Given the description of an element on the screen output the (x, y) to click on. 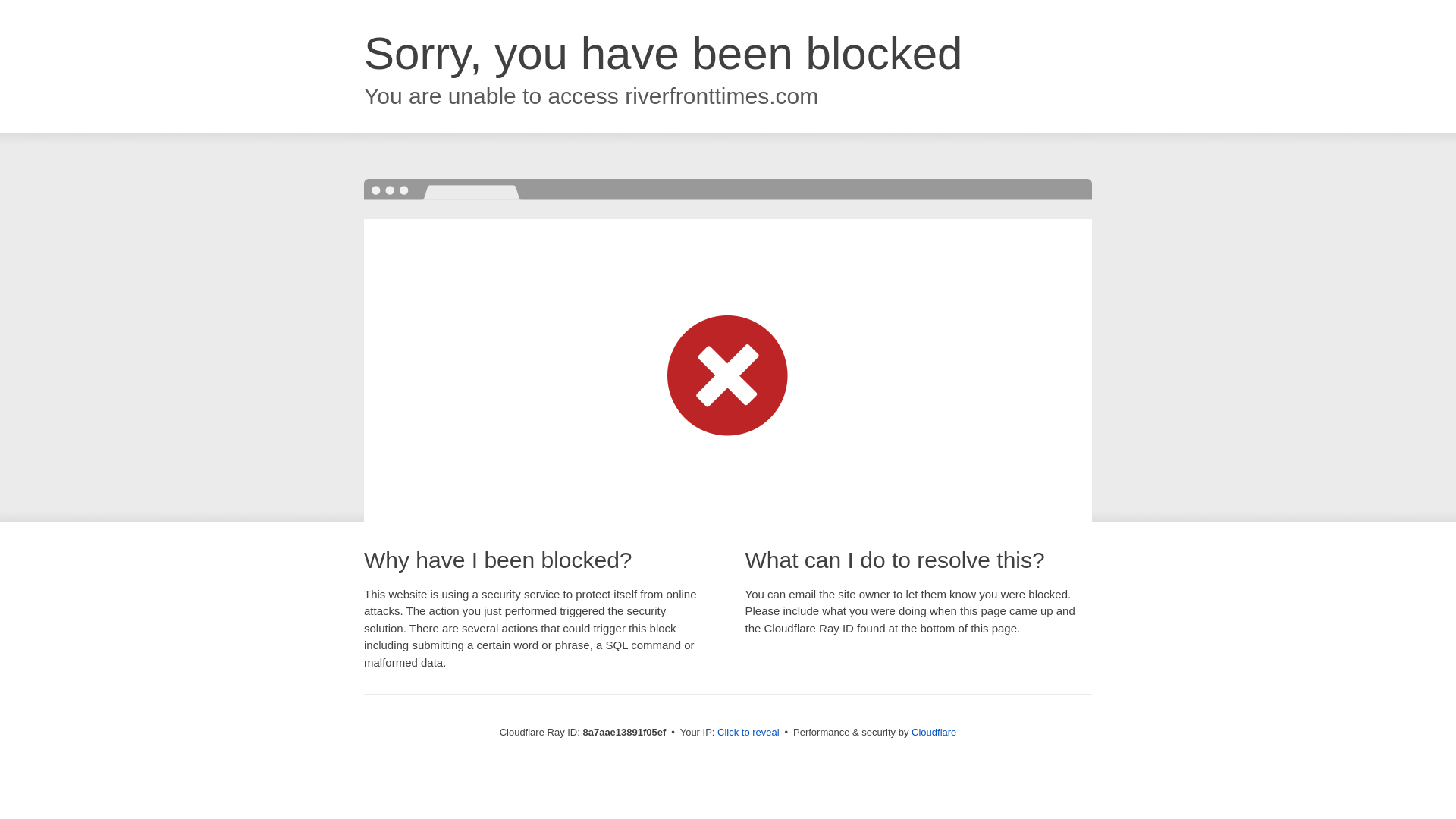
Cloudflare (933, 731)
Click to reveal (747, 732)
